Given the description of an element on the screen output the (x, y) to click on. 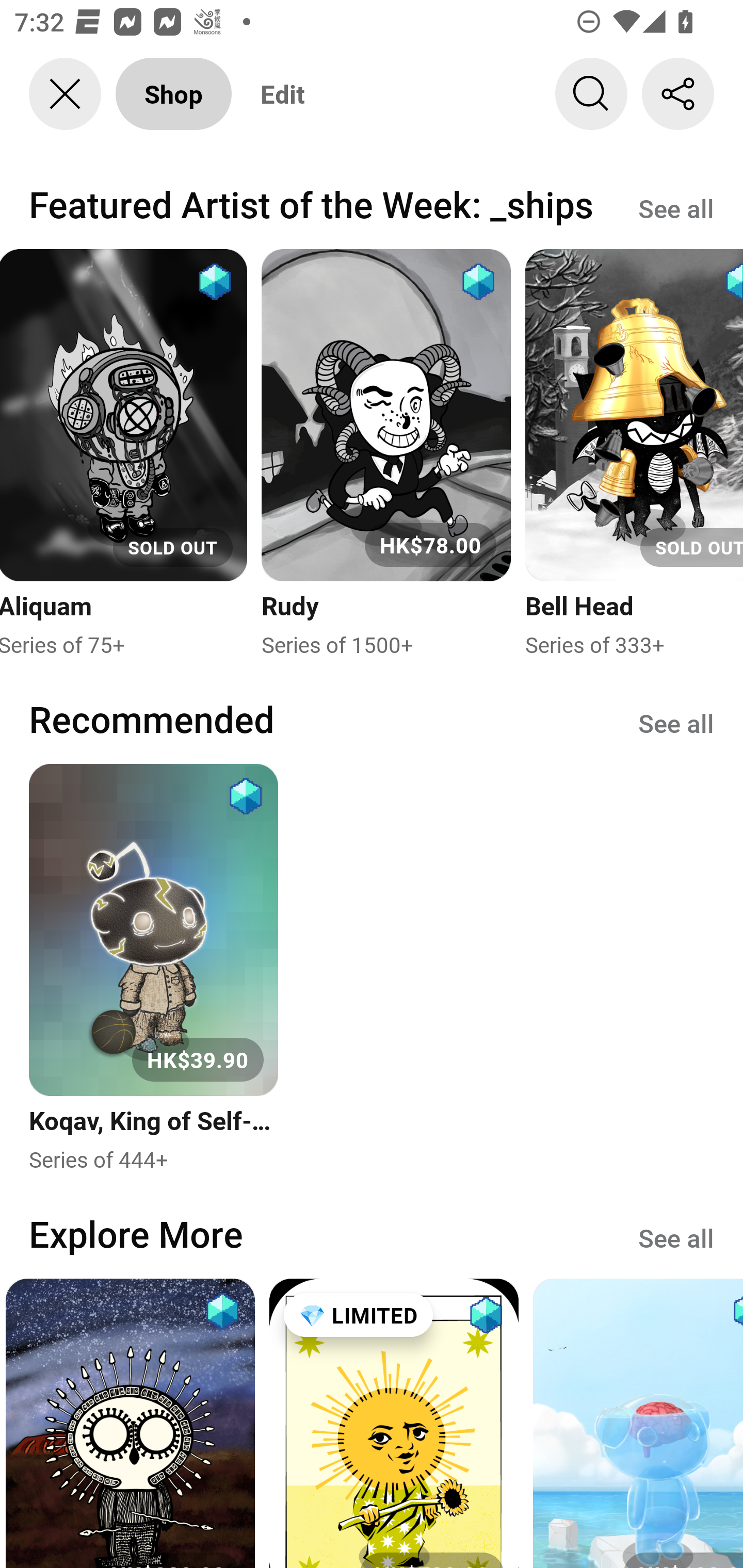
Close (64, 93)
Edit (282, 93)
Search (591, 93)
Share (677, 93)
Featured Artist of the Week: _ships (311, 203)
See all (676, 206)
Aliquam, Series of 75+, SOLD OUT (123, 453)
Rudy, Series of 1500+, HK$78.00 (386, 453)
Bell Head, Series of 333+, SOLD OUT (634, 453)
Recommended (151, 718)
See all (676, 723)
Koqav, King of Self-Care, Series of 444+, HK$39.90 (152, 968)
Explore More (135, 1233)
See all (676, 1235)
Wandjina, Series of 500+, HK$389.00 (129, 1422)
💎 LIMITED, The Sun, Series of 150+, HK$788.00 (393, 1422)
Masu Water, Series of 205+, HK$198.00 (637, 1422)
